Given the description of an element on the screen output the (x, y) to click on. 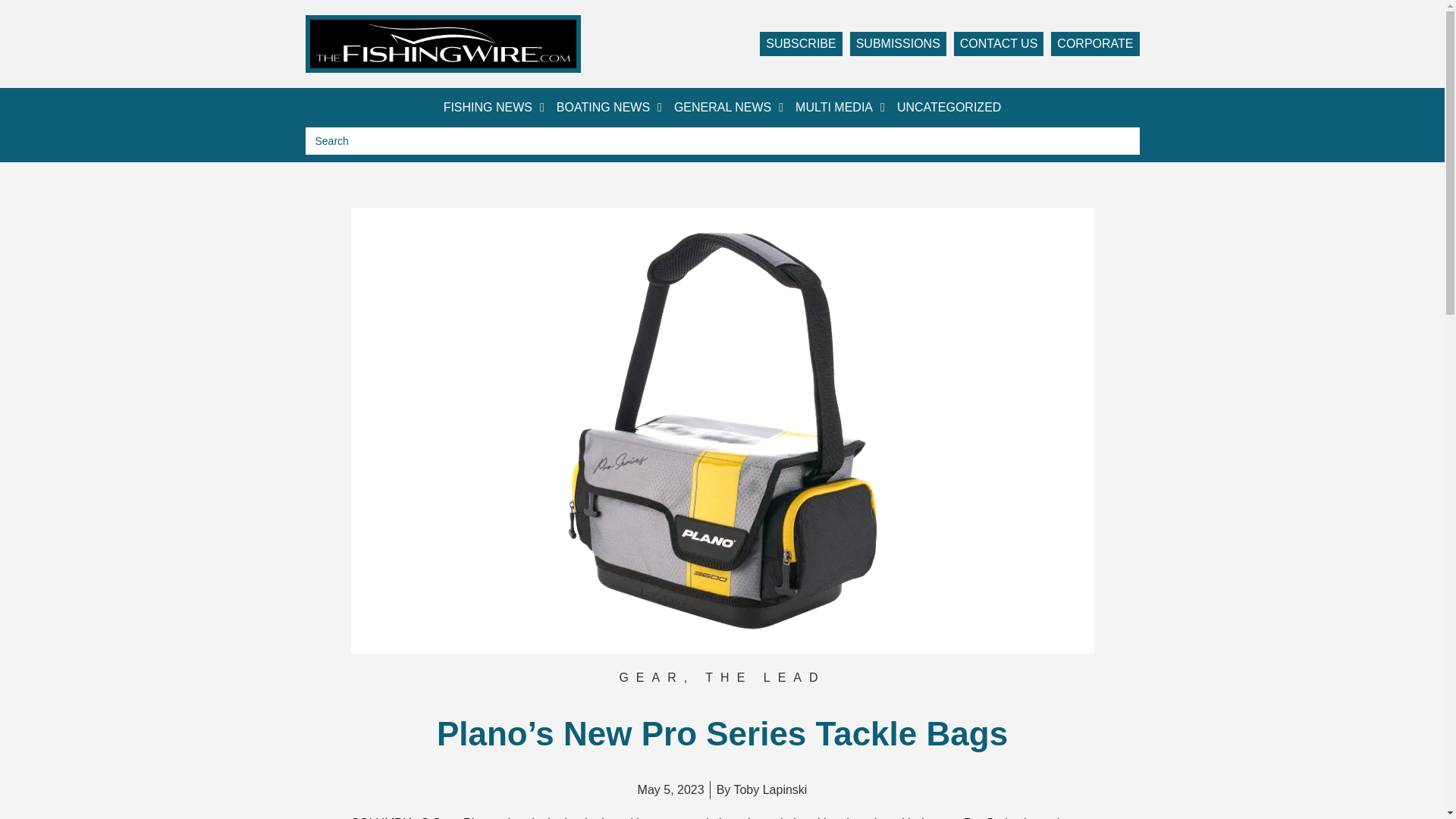
CONTACT US (998, 43)
MULTI MEDIA (840, 107)
BOATING NEWS (609, 107)
UNCATEGORIZED (949, 107)
CORPORATE (1094, 43)
SUBMISSIONS (898, 43)
GENERAL NEWS (728, 107)
FISHING NEWS (494, 107)
SUBSCRIBE (800, 43)
